Given the description of an element on the screen output the (x, y) to click on. 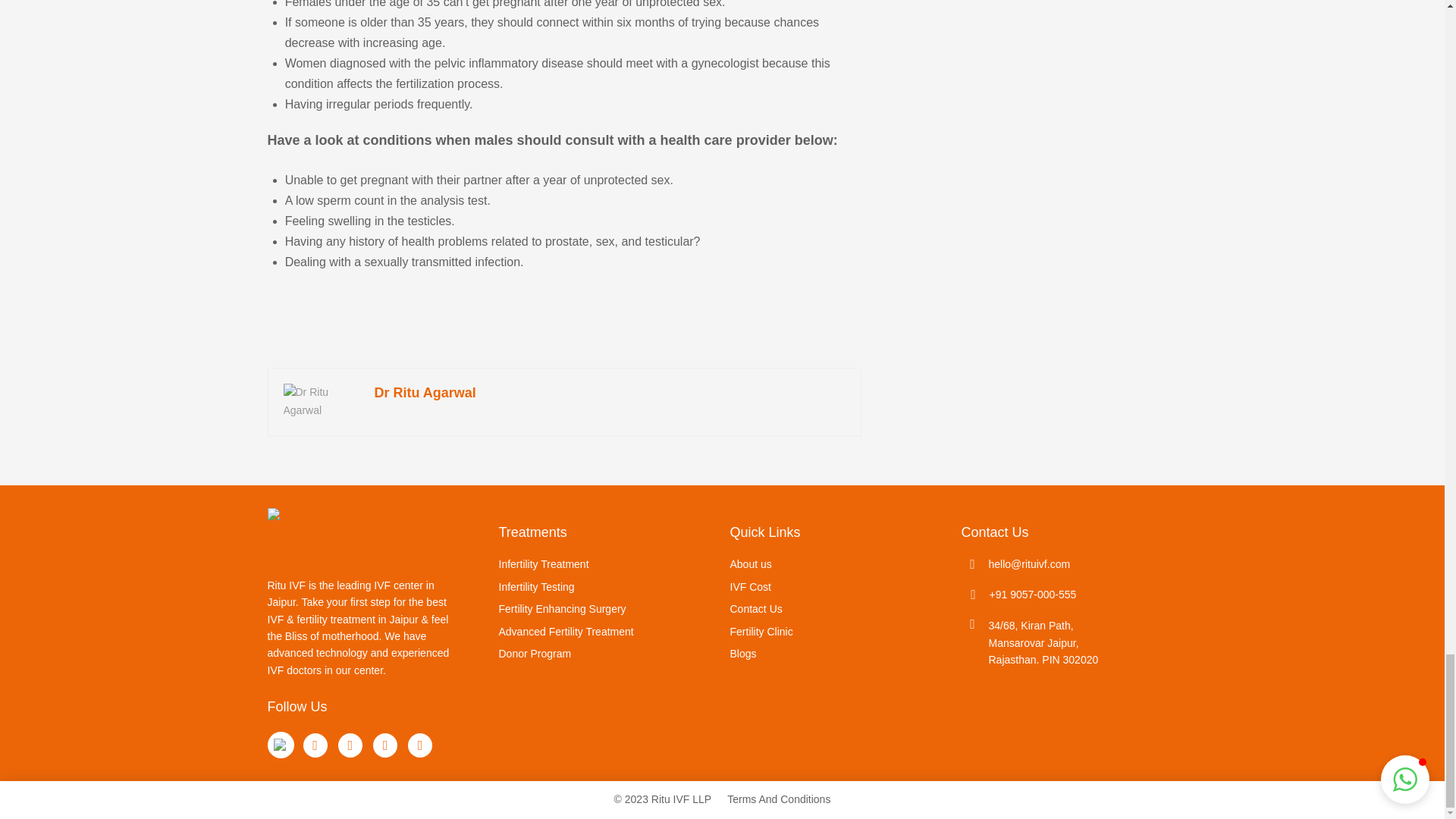
Dr Ritu Agarwal (425, 392)
